Given the description of an element on the screen output the (x, y) to click on. 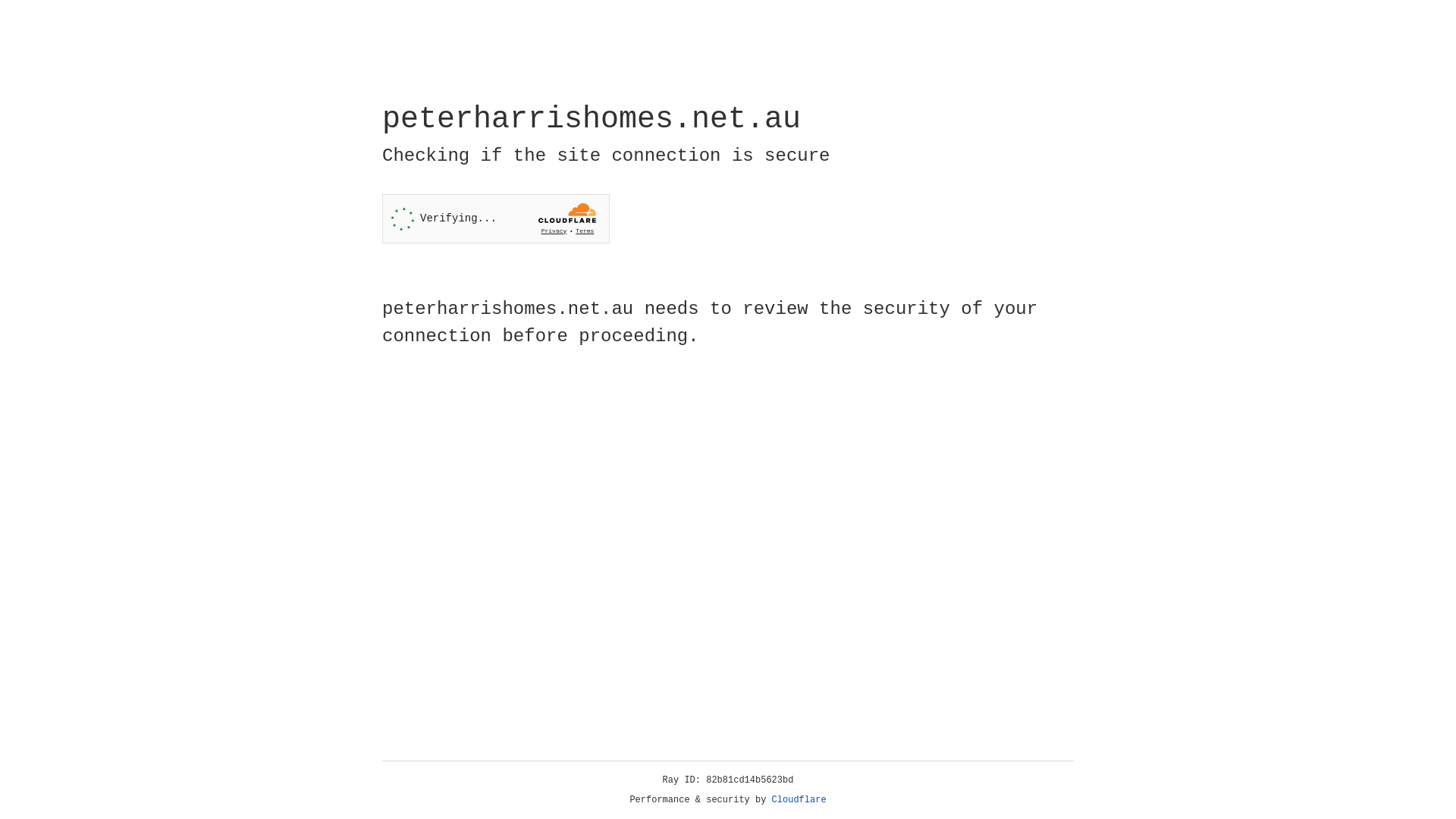
Cloudflare Element type: text (798, 799)
Widget containing a Cloudflare security challenge Element type: hover (495, 218)
